Given the description of an element on the screen output the (x, y) to click on. 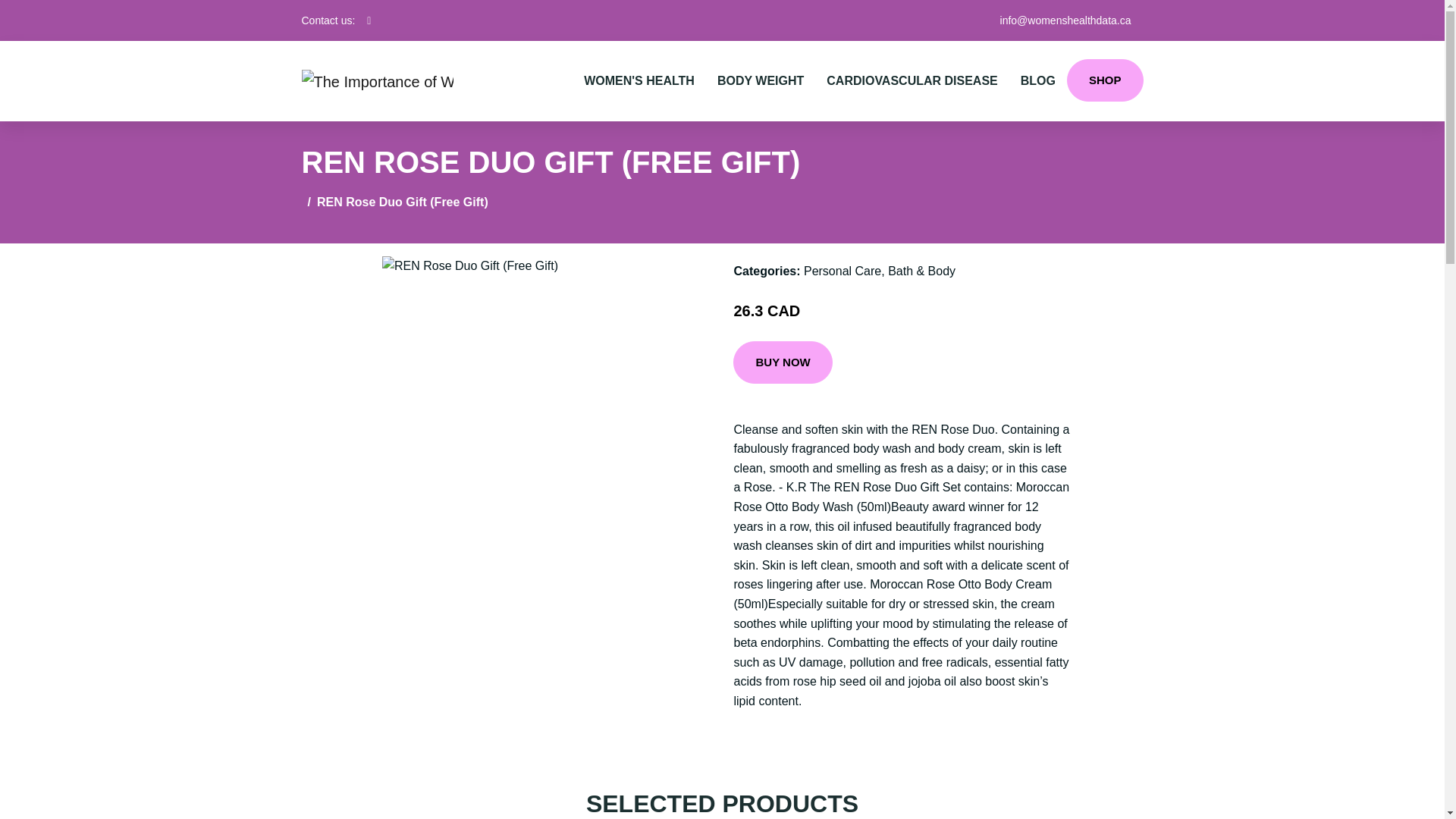
SHOP (1104, 79)
WOMEN'S HEALTH (639, 80)
BUY NOW (782, 362)
BODY WEIGHT (760, 80)
Personal Care (841, 270)
CARDIOVASCULAR DISEASE (912, 80)
